Given the description of an element on the screen output the (x, y) to click on. 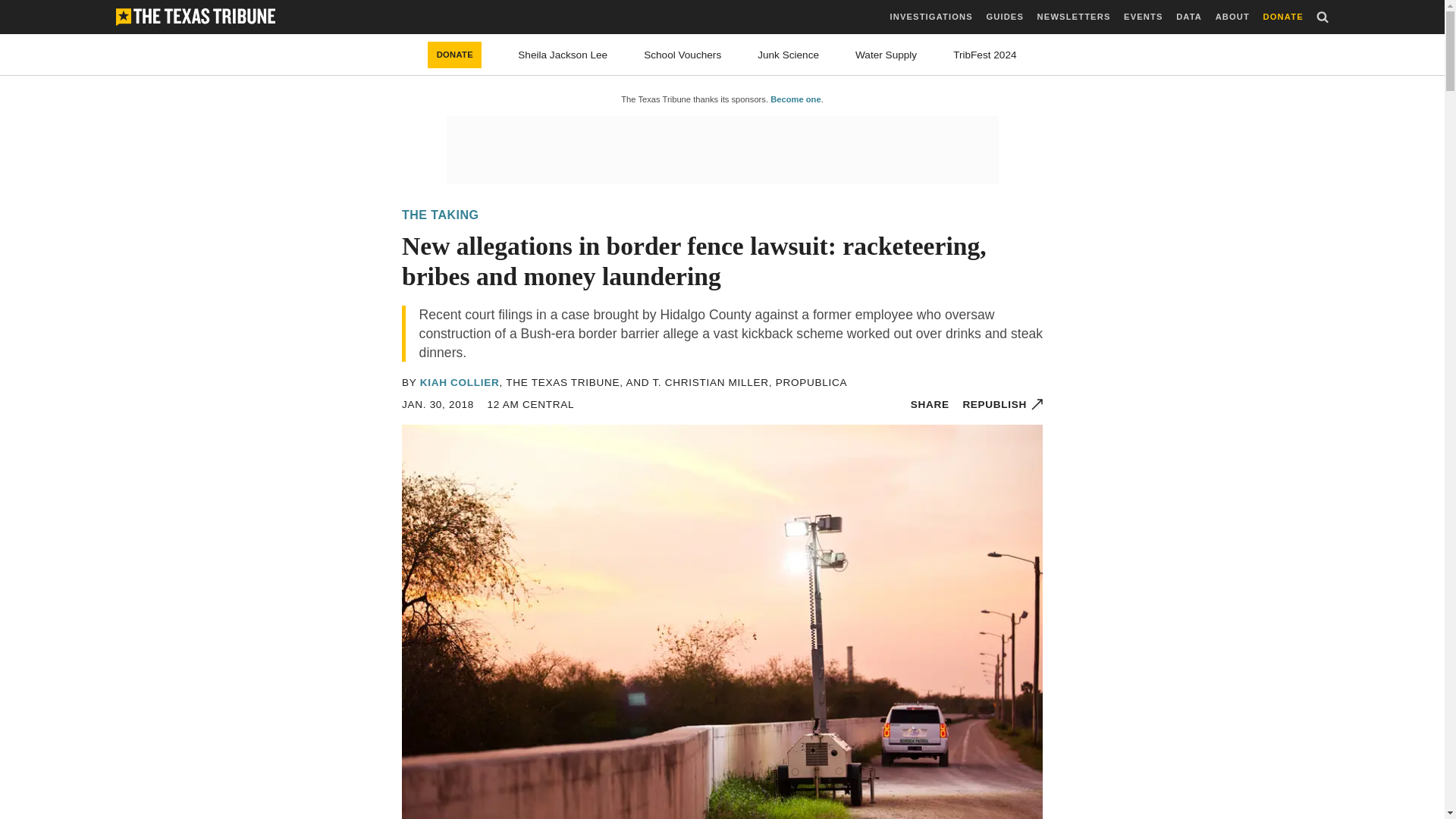
DONATE (1283, 17)
Junk Science (787, 54)
THE TAKING (440, 214)
2018-01-30 00:01 CST (437, 404)
EVENTS (1142, 17)
Become one (795, 99)
ABOUT (1232, 17)
INVESTIGATIONS (930, 17)
GUIDES (1004, 17)
KIAH COLLIER (459, 382)
DONATE (454, 54)
Sheila Jackson Lee (562, 54)
TribFest 2024 (984, 54)
2018-01-30 00:01 CST (531, 404)
School Vouchers (681, 54)
